Given the description of an element on the screen output the (x, y) to click on. 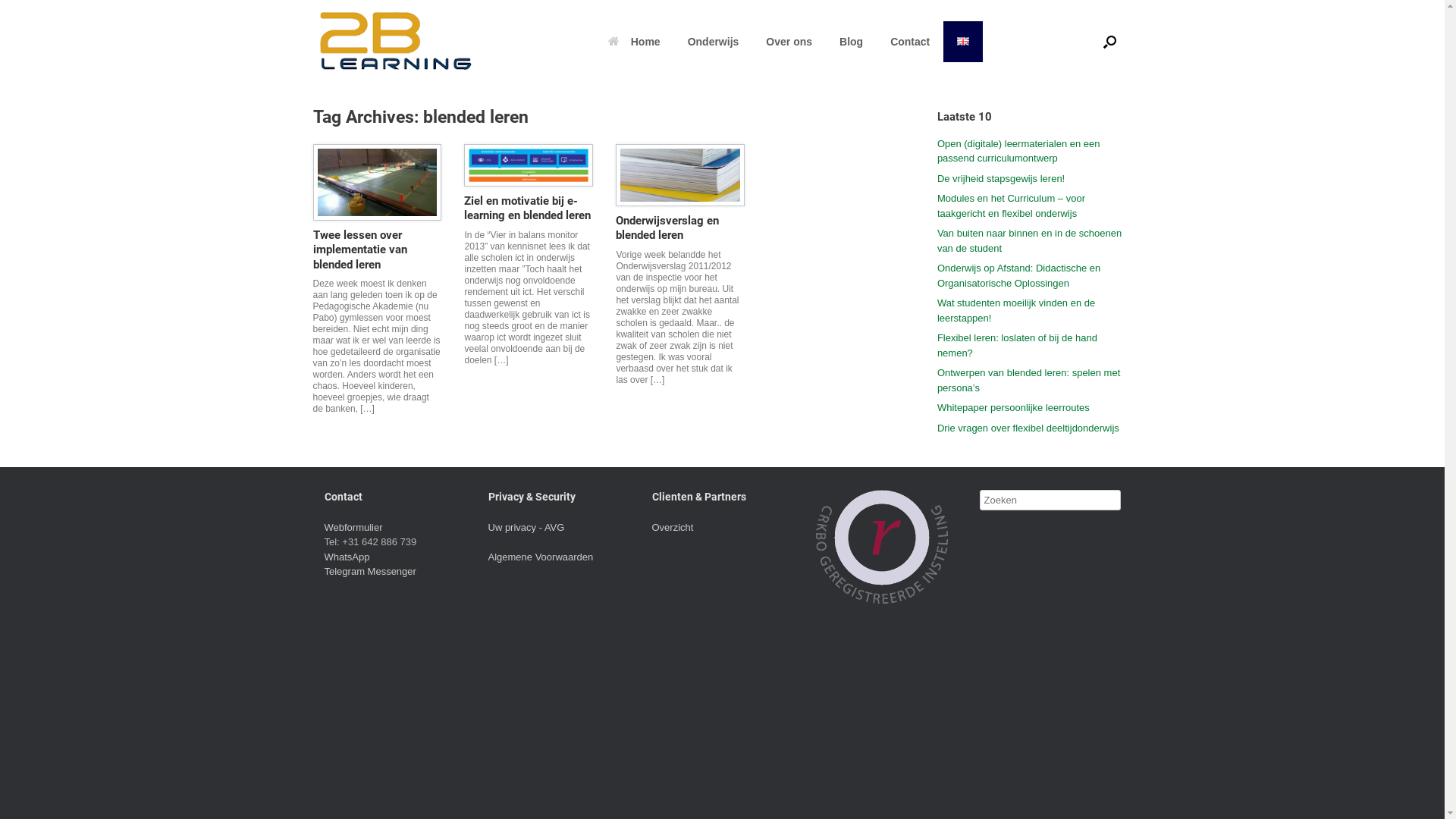
Webformulier Element type: text (353, 527)
Whitepaper persoonlijke leerroutes Element type: text (1013, 407)
De vrijheid stapsgewijs leren! Element type: text (1000, 178)
Onderwijs Element type: text (713, 41)
Uw privacy - AVG Element type: text (526, 527)
Telegram Messenger Element type: text (370, 571)
Overzicht Element type: text (672, 527)
Drie vragen over flexibel deeltijdonderwijs Element type: text (1028, 427)
Flexibel leren: loslaten of bij de hand nemen? Element type: text (1017, 345)
Twee lessen over implementatie van blended leren Element type: text (359, 249)
Onderwijsverslag en blended leren Element type: text (666, 227)
Wat studenten moeilijk vinden en de leerstappen! Element type: text (1016, 310)
Blog Element type: text (850, 41)
Over ons Element type: text (788, 41)
WhatsApp Element type: text (347, 555)
Home Element type: text (634, 41)
Van buiten naar binnen en in de schoenen van de student Element type: text (1029, 240)
2BLearning Element type: hover (395, 41)
Ziel en motivatie bij e-learning en blended leren Element type: text (527, 208)
Algemene Voorwaarden Element type: text (540, 555)
Contact Element type: text (909, 41)
